Given the description of an element on the screen output the (x, y) to click on. 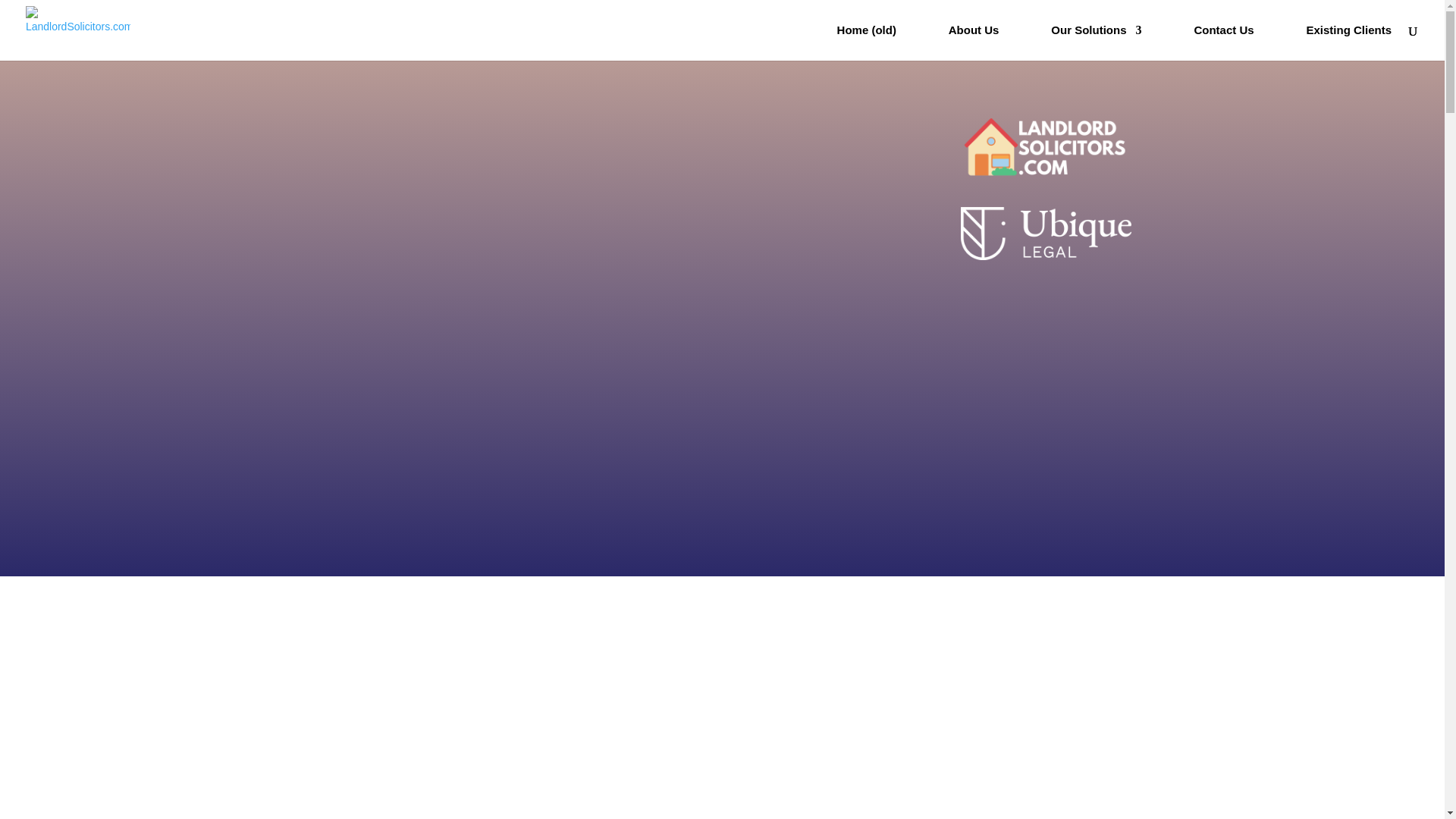
Existing Clients (1348, 42)
Our Solutions (1096, 42)
About Us (973, 42)
Contact Us (1223, 42)
